Given the description of an element on the screen output the (x, y) to click on. 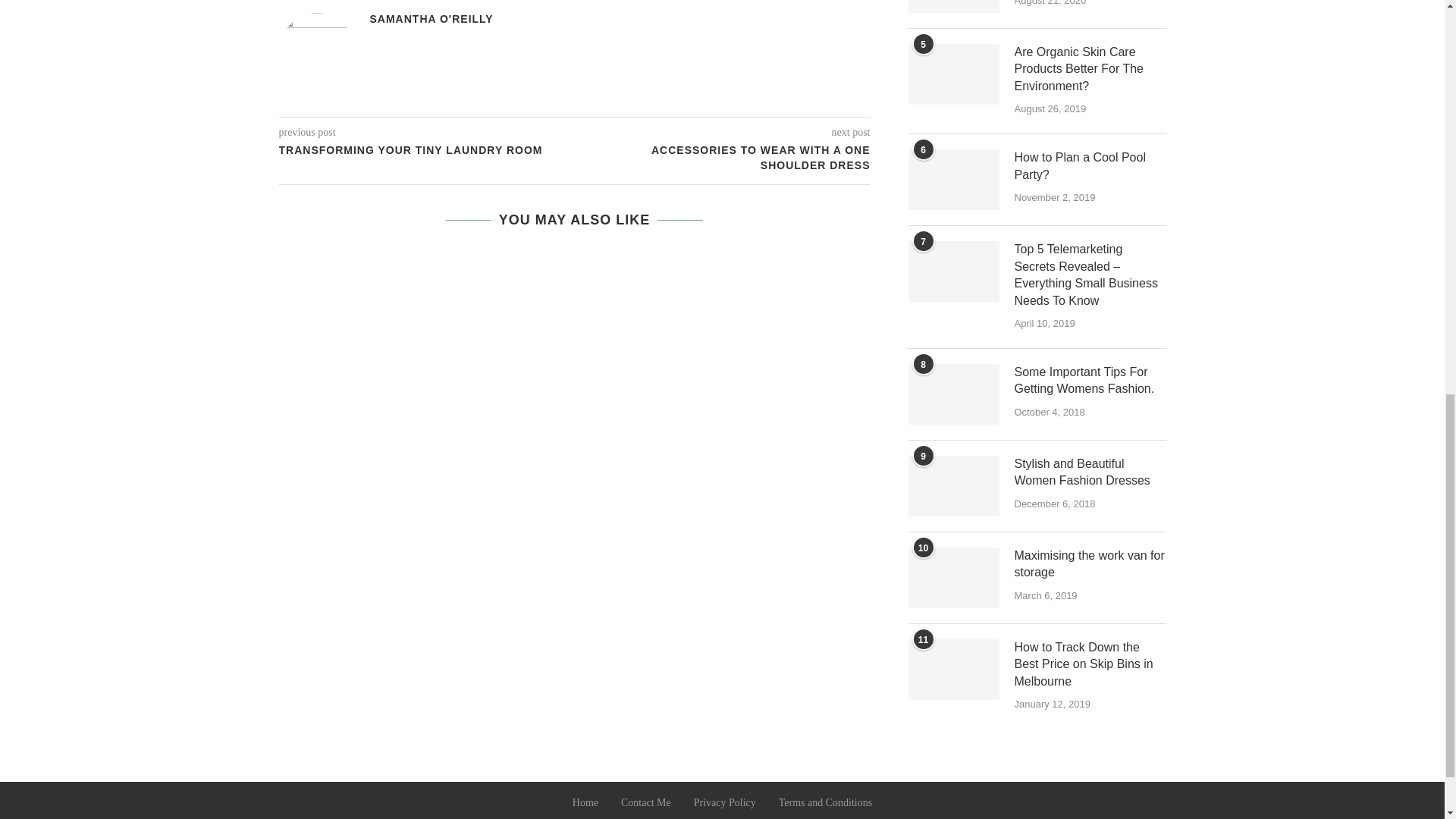
SAMANTHA O'REILLY (431, 19)
Posts by Samantha O'reilly (431, 19)
ACCESSORIES TO WEAR WITH A ONE SHOULDER DRESS (722, 157)
TRANSFORMING YOUR TINY LAUNDRY ROOM (427, 150)
